Given the description of an element on the screen output the (x, y) to click on. 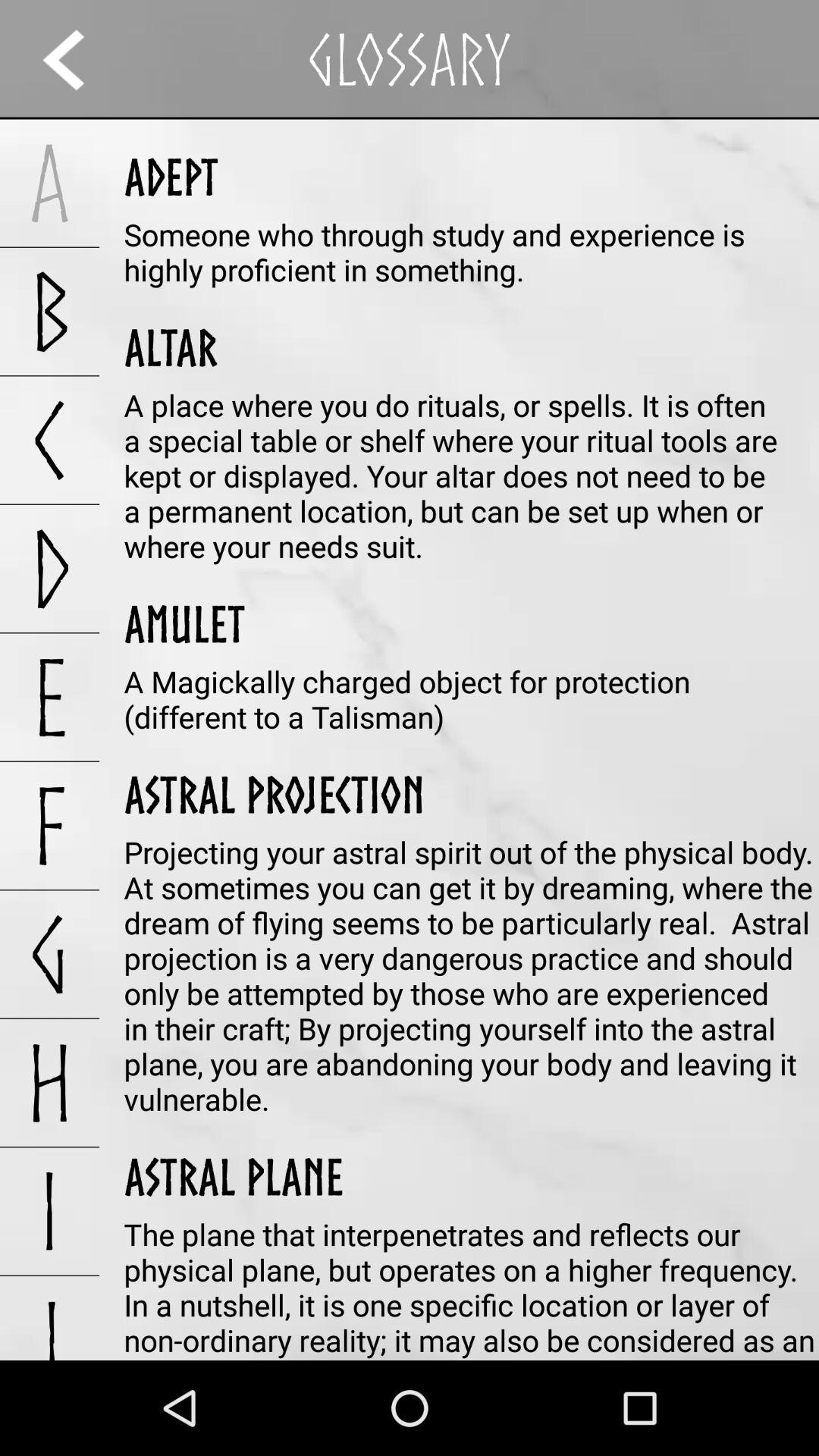
select the item below astral projection app (471, 975)
